Given the description of an element on the screen output the (x, y) to click on. 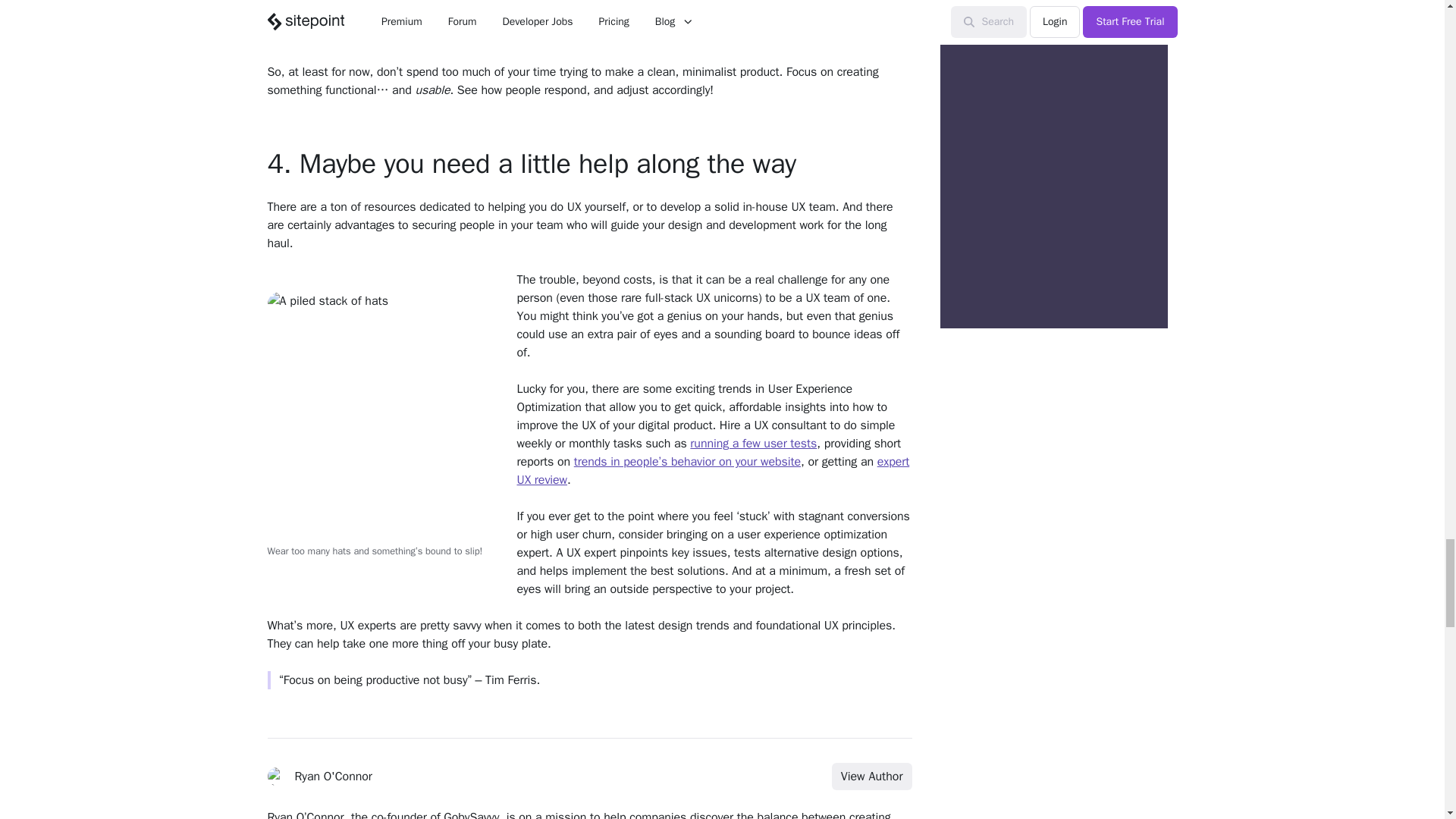
running a few user tests (753, 443)
